Given the description of an element on the screen output the (x, y) to click on. 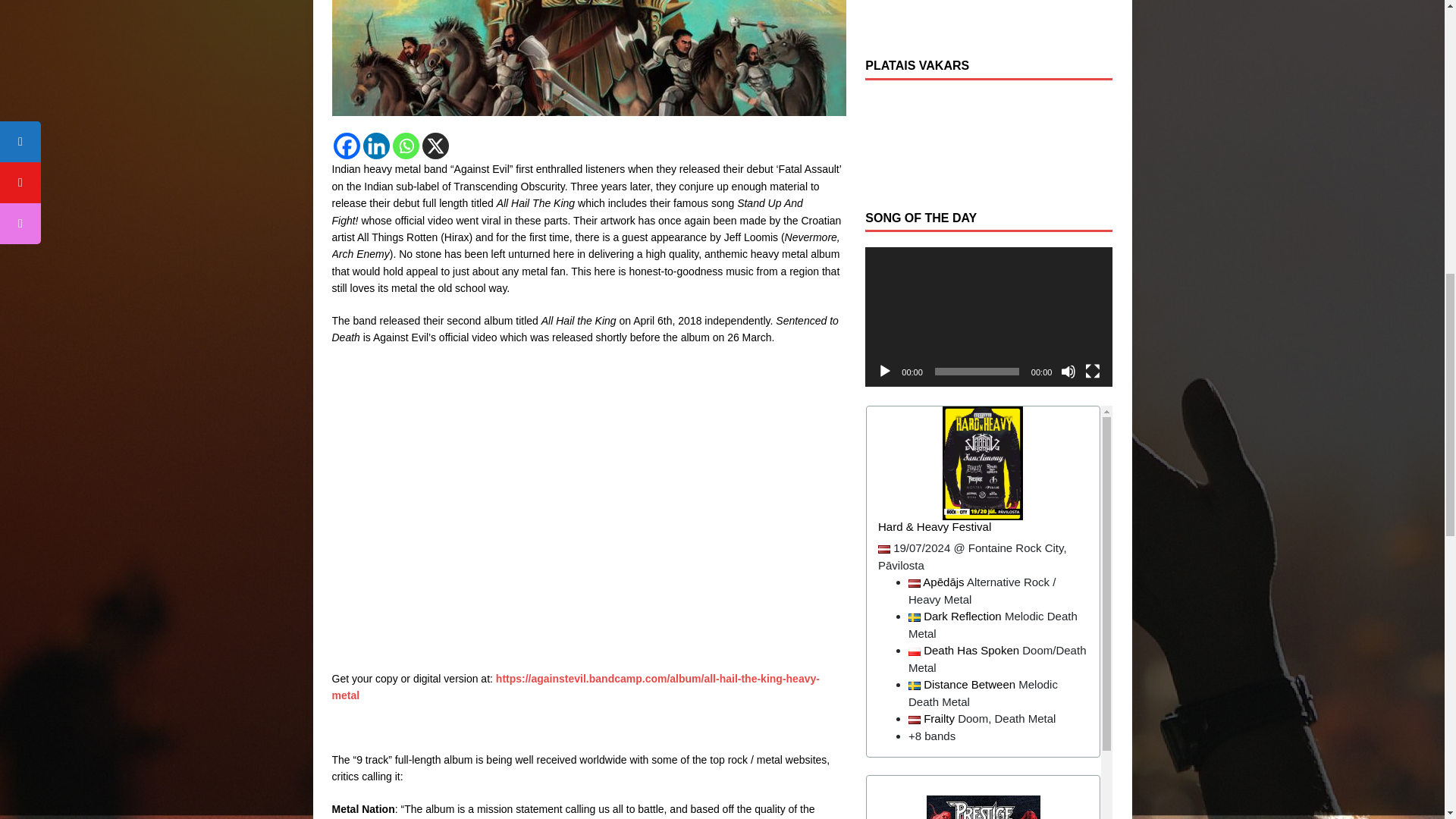
Mute (1068, 371)
Fullscreen (1092, 371)
Whatsapp (406, 145)
Facebook (346, 145)
X (435, 145)
Linkedin (375, 145)
Play (884, 371)
